Given the description of an element on the screen output the (x, y) to click on. 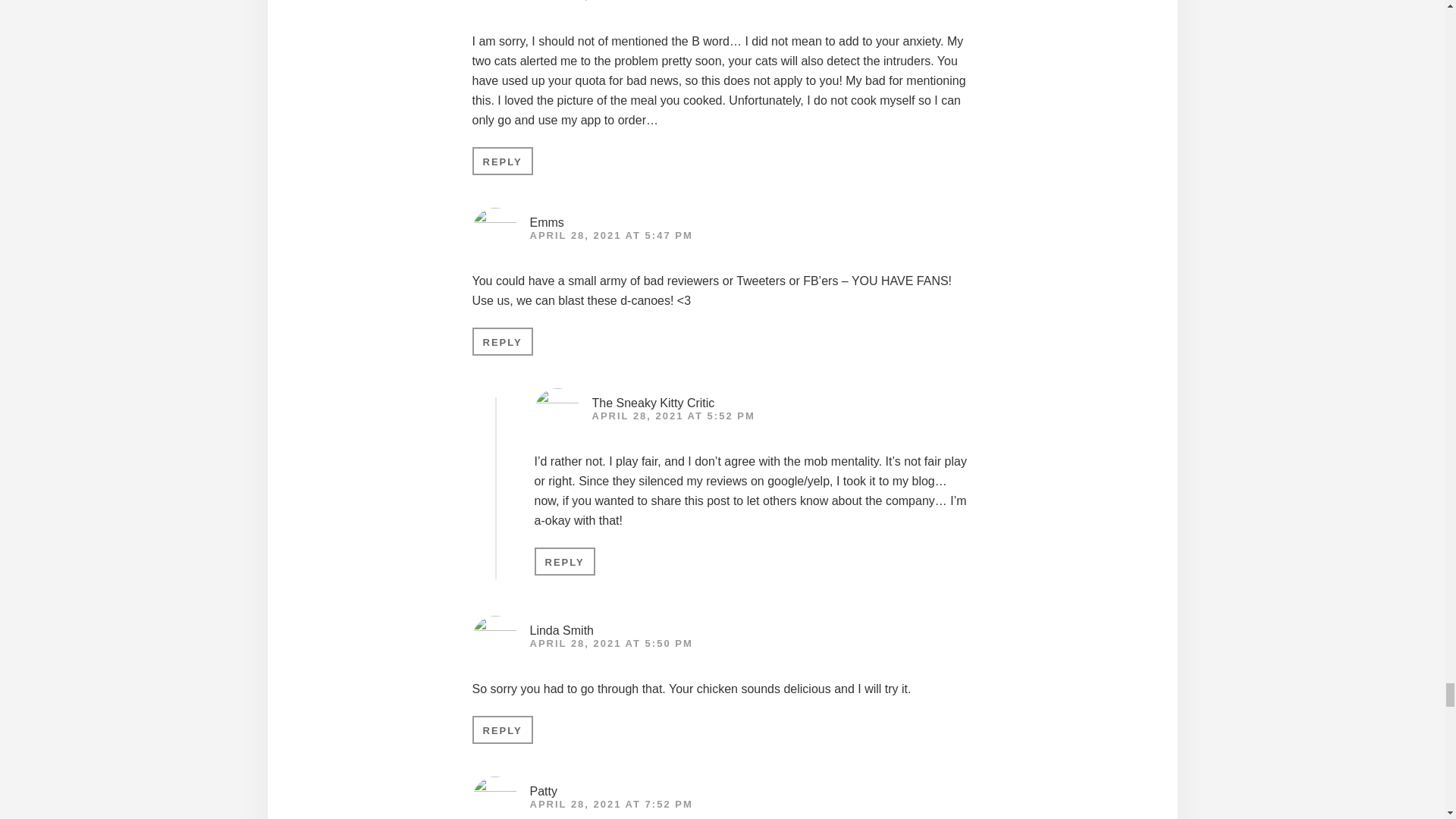
REPLY (501, 341)
APRIL 28, 2021 AT 5:47 PM (611, 235)
REPLY (501, 161)
REPLY (501, 729)
APRIL 28, 2021 AT 7:52 PM (611, 803)
REPLY (564, 561)
APRIL 28, 2021 AT 5:50 PM (611, 643)
APRIL 28, 2021 AT 5:52 PM (672, 415)
